Given the description of an element on the screen output the (x, y) to click on. 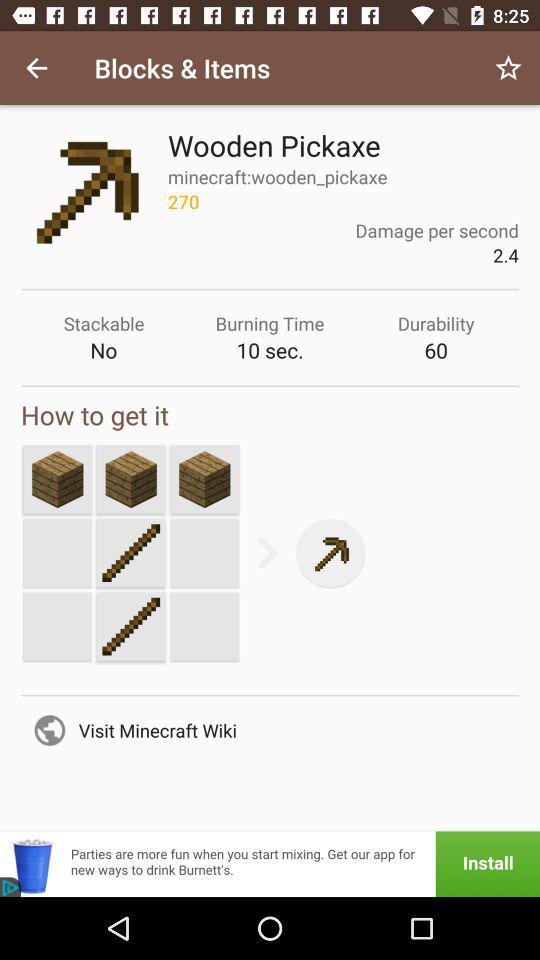
select the icon next to the blocks & items icon (36, 68)
